Given the description of an element on the screen output the (x, y) to click on. 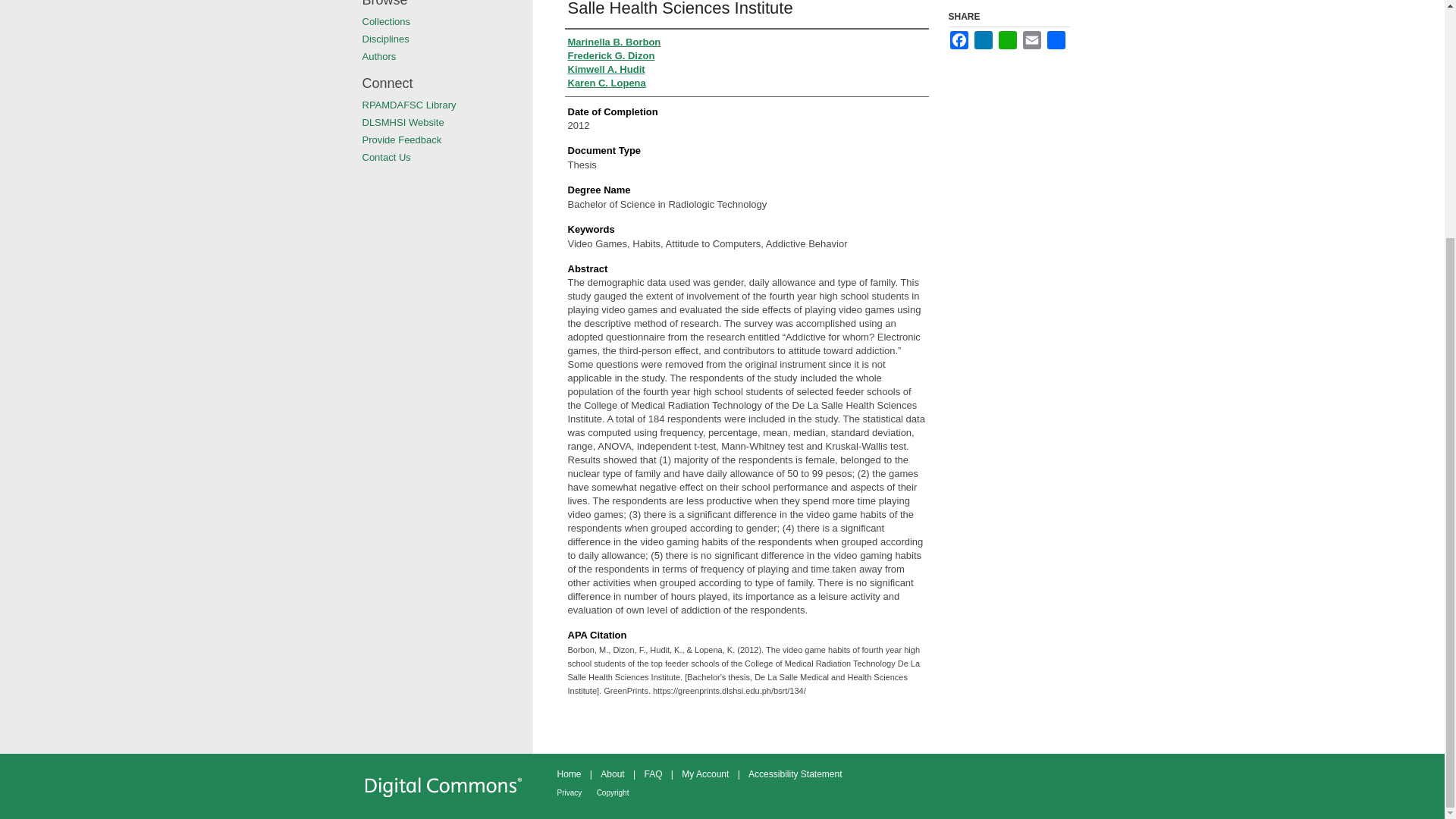
Browse by Disciplines (447, 39)
Authors (447, 56)
Browse by Collections (447, 21)
Share (1055, 40)
Disciplines (447, 39)
WhatsApp (1006, 40)
Browse by Author (447, 56)
Frederick G. Dizon (610, 56)
Email (1031, 40)
Marinella B. Borbon (614, 42)
DLSMHSI Website (447, 122)
Kimwell A. Hudit (606, 69)
Facebook (958, 40)
RPAMDAFSC Library (447, 104)
Collections (447, 21)
